Given the description of an element on the screen output the (x, y) to click on. 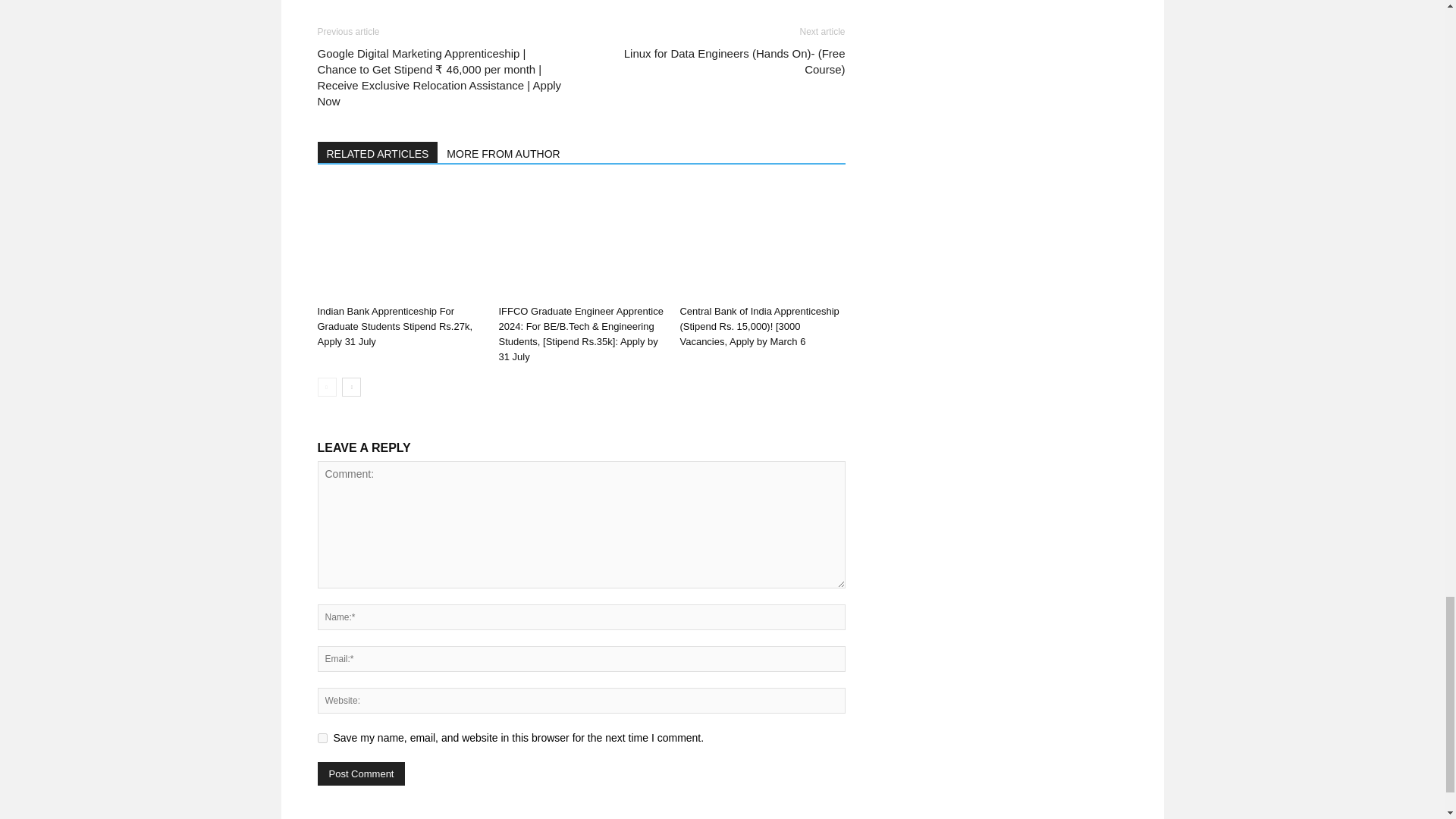
yes (321, 737)
Post Comment (360, 773)
